Given the description of an element on the screen output the (x, y) to click on. 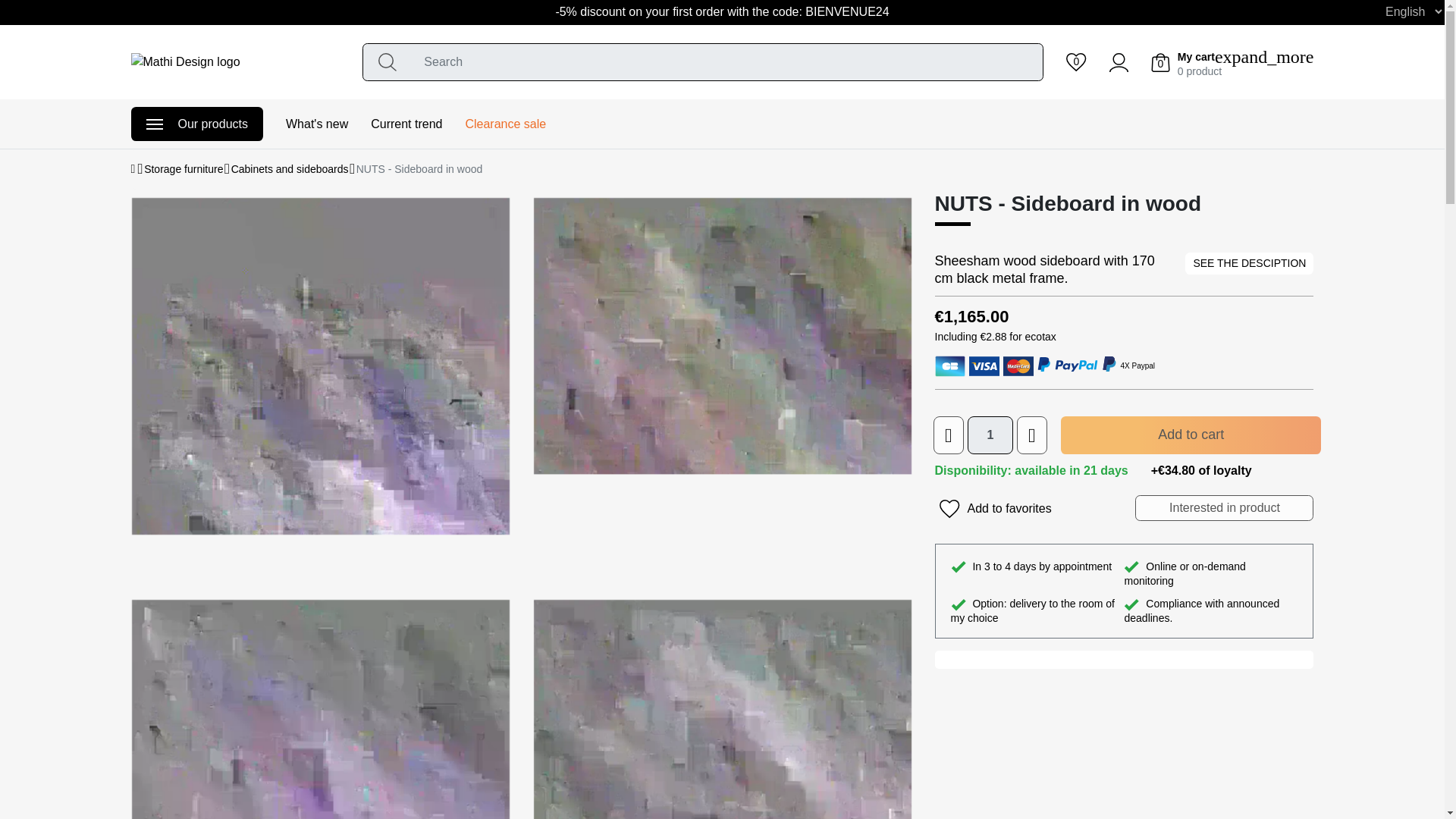
Our products (196, 123)
1 (990, 435)
Mathi Design logo (185, 62)
